Given the description of an element on the screen output the (x, y) to click on. 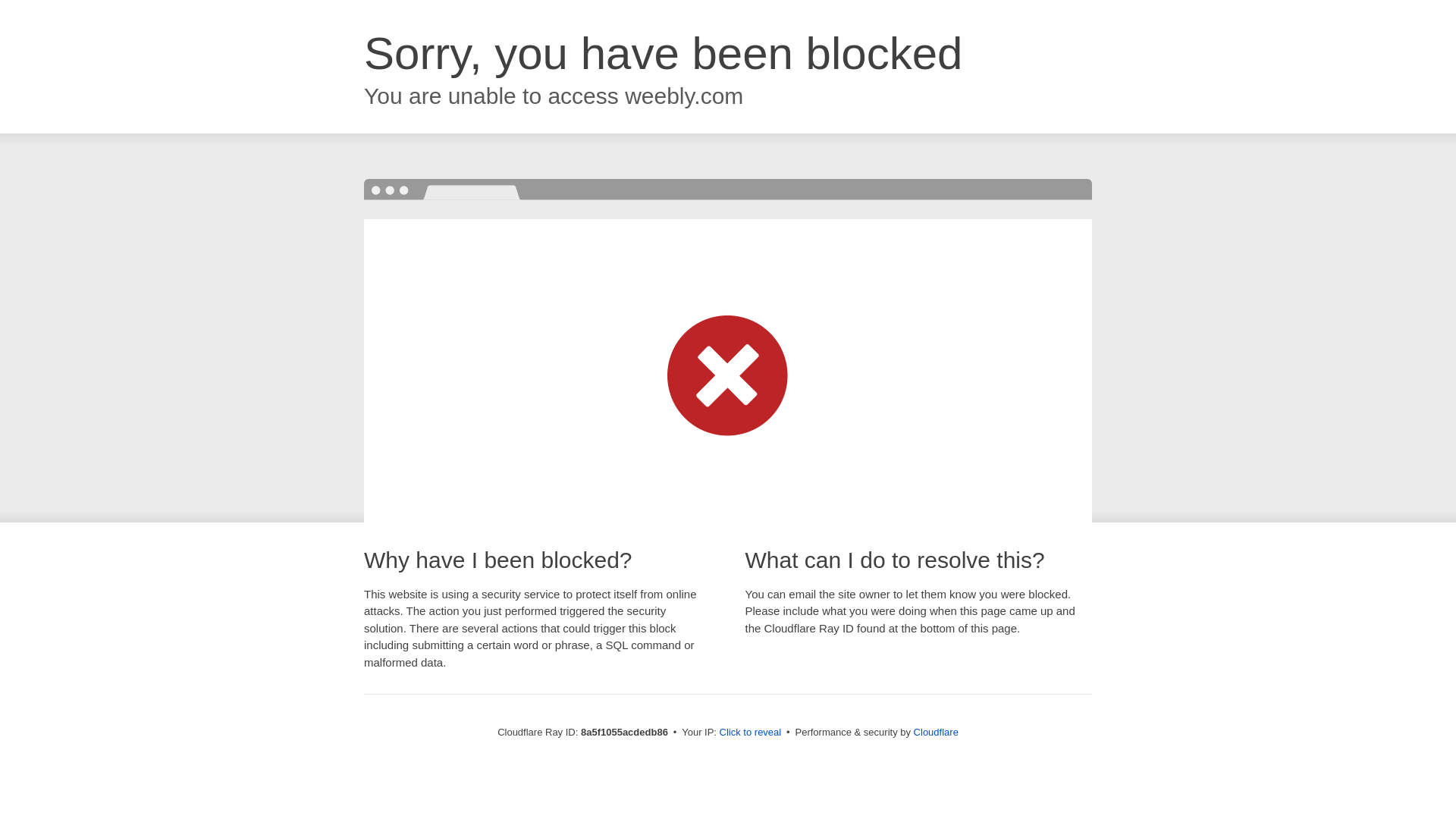
Cloudflare (936, 731)
Click to reveal (750, 732)
